Given the description of an element on the screen output the (x, y) to click on. 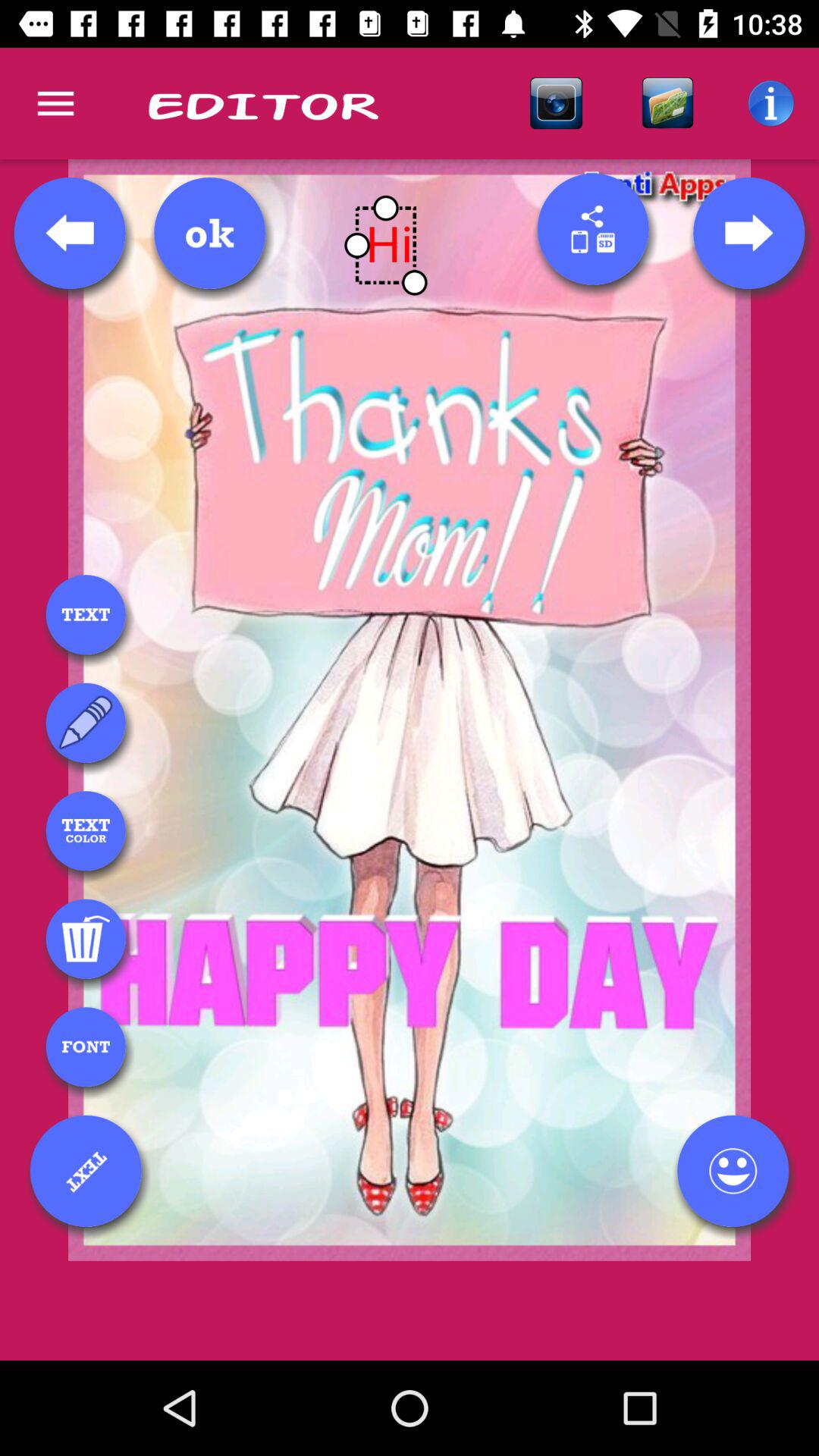
text box (85, 614)
